Given the description of an element on the screen output the (x, y) to click on. 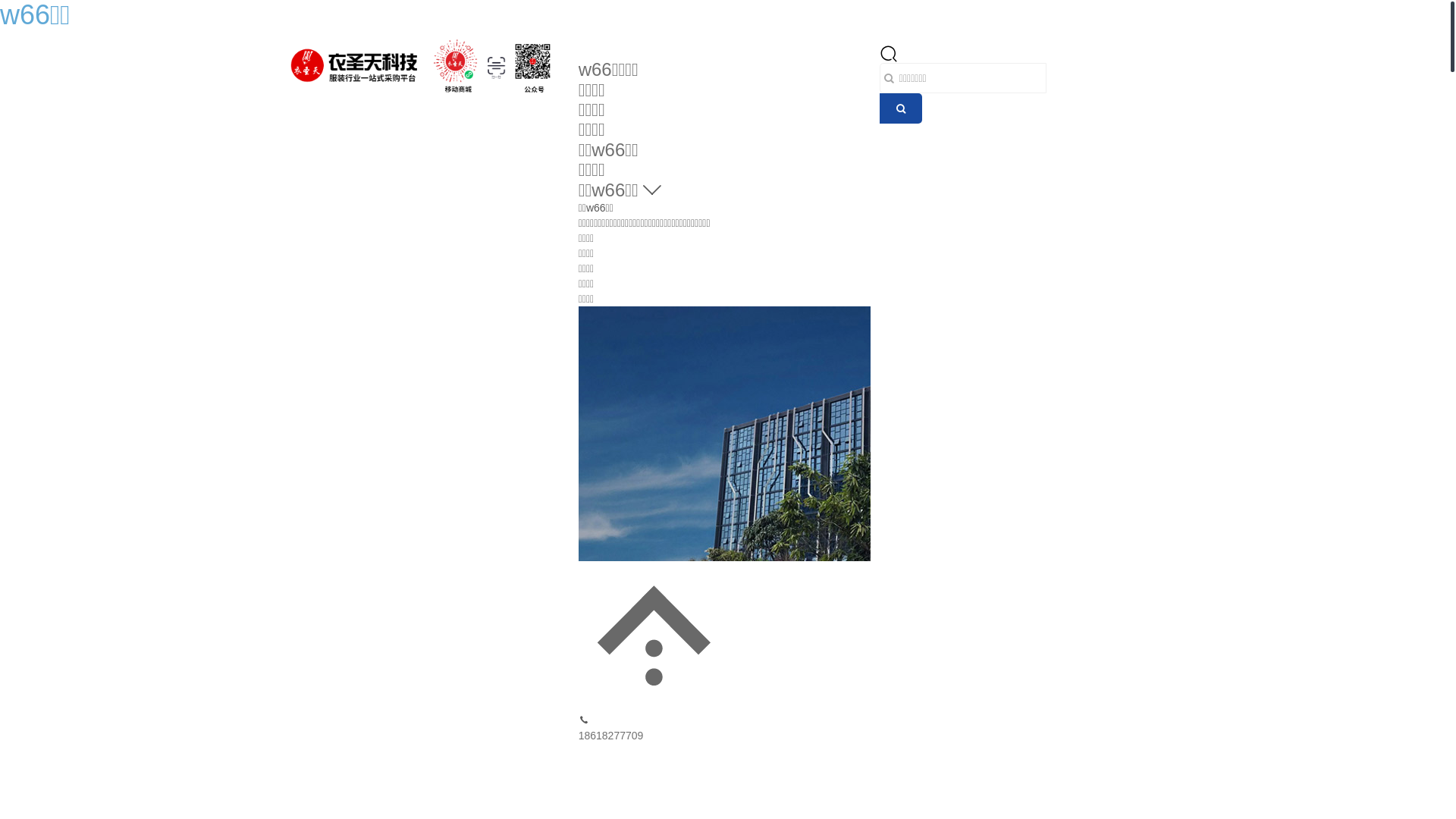
18618277709 Element type: text (610, 735)
logo Element type: hover (423, 66)
